Given the description of an element on the screen output the (x, y) to click on. 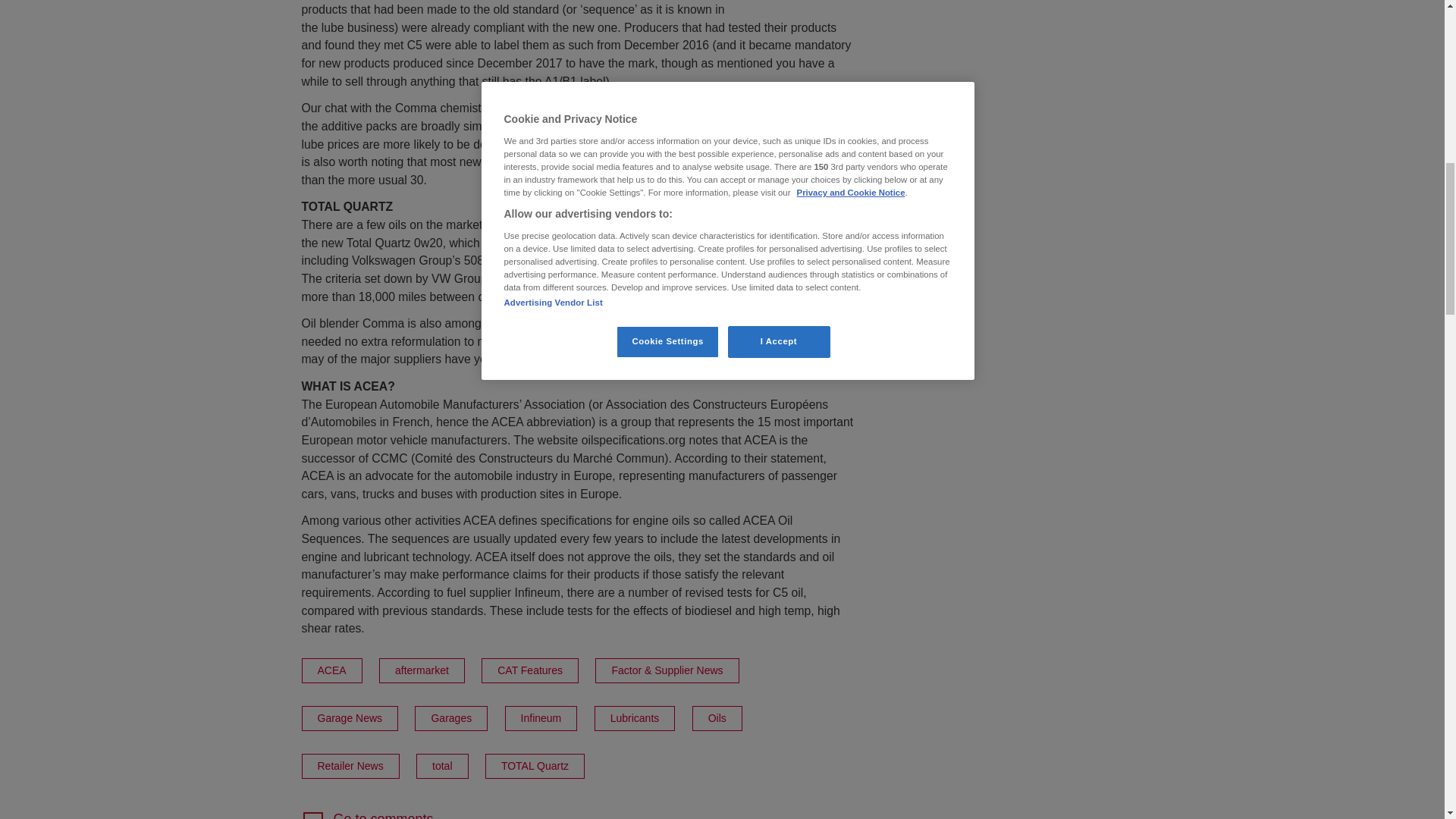
Lubricants (634, 718)
Infineum (541, 718)
total (441, 765)
Garage News (349, 718)
CAT Features (529, 670)
Retailer News (578, 815)
Oils (349, 765)
ACEA (717, 718)
linke with comments (331, 670)
Garages (578, 815)
TOTAL Quartz (450, 718)
aftermarket (534, 765)
